Given the description of an element on the screen output the (x, y) to click on. 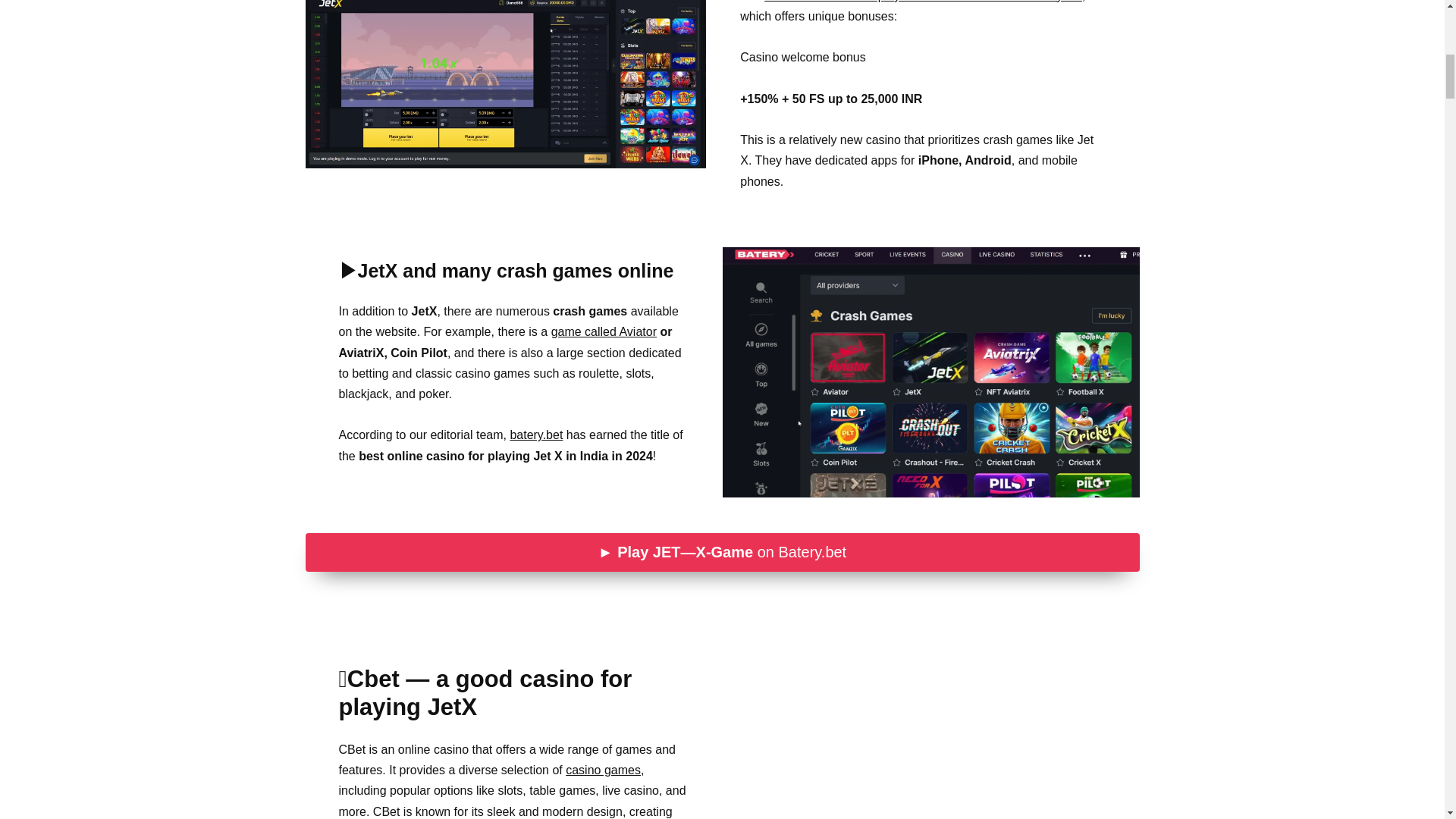
batery.bet (535, 434)
game called Aviator (603, 331)
